Given the description of an element on the screen output the (x, y) to click on. 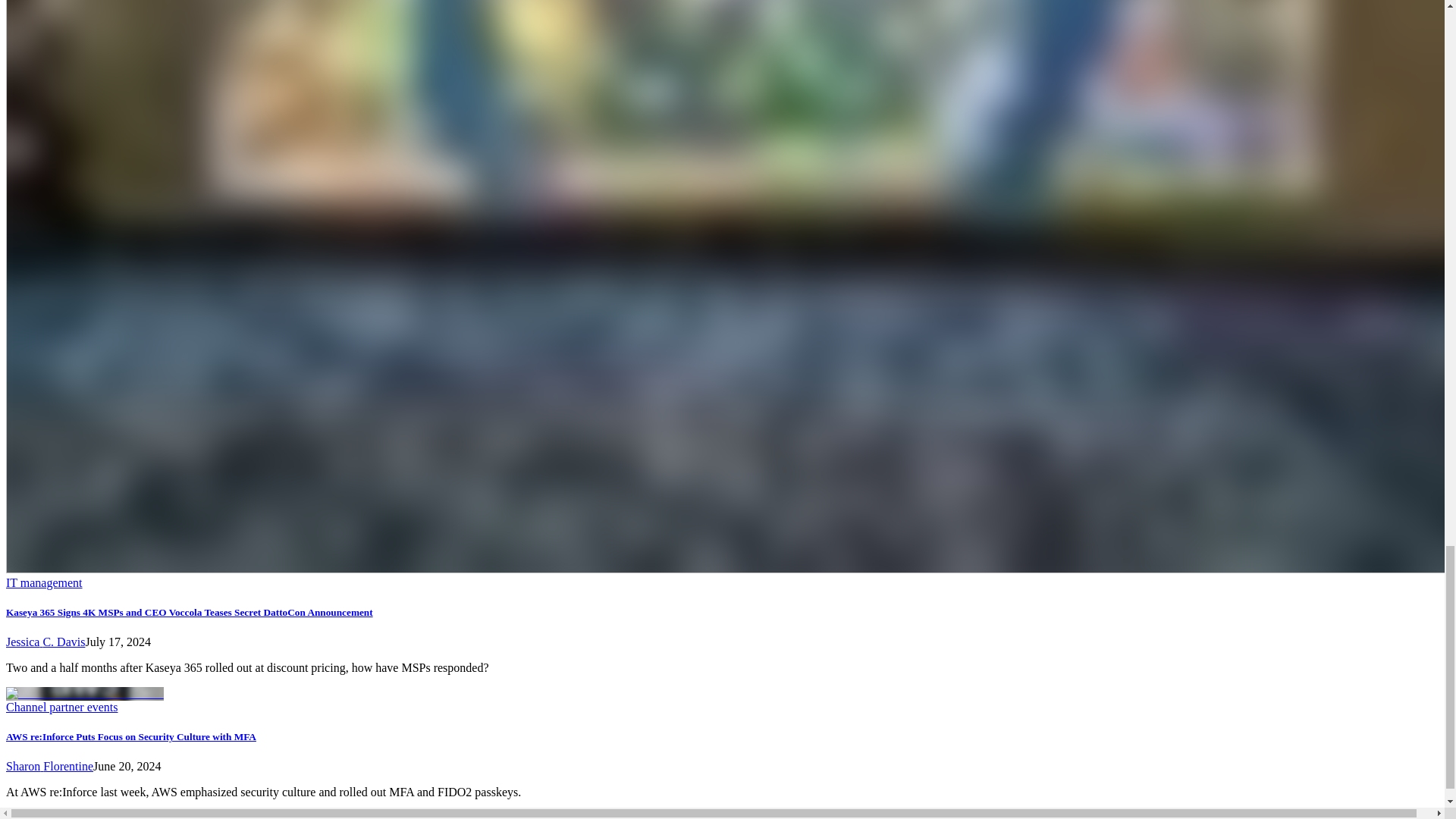
Sharon Florentine (49, 766)
IT management (43, 582)
Channel partner events (61, 707)
Jessica C. Davis (44, 641)
